Given the description of an element on the screen output the (x, y) to click on. 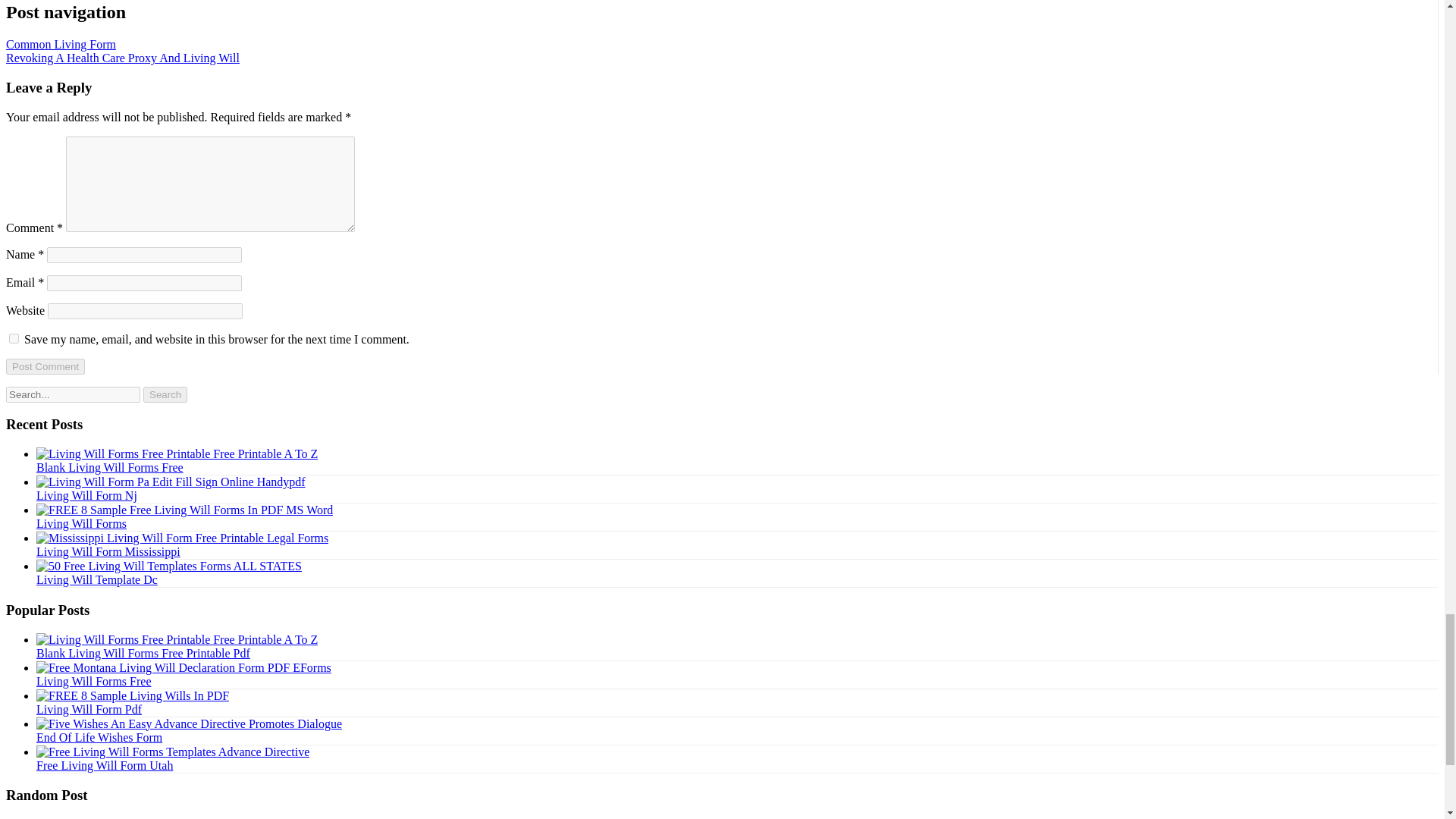
Search (164, 394)
Search (164, 394)
yes (13, 338)
Post Comment (44, 366)
